Given the description of an element on the screen output the (x, y) to click on. 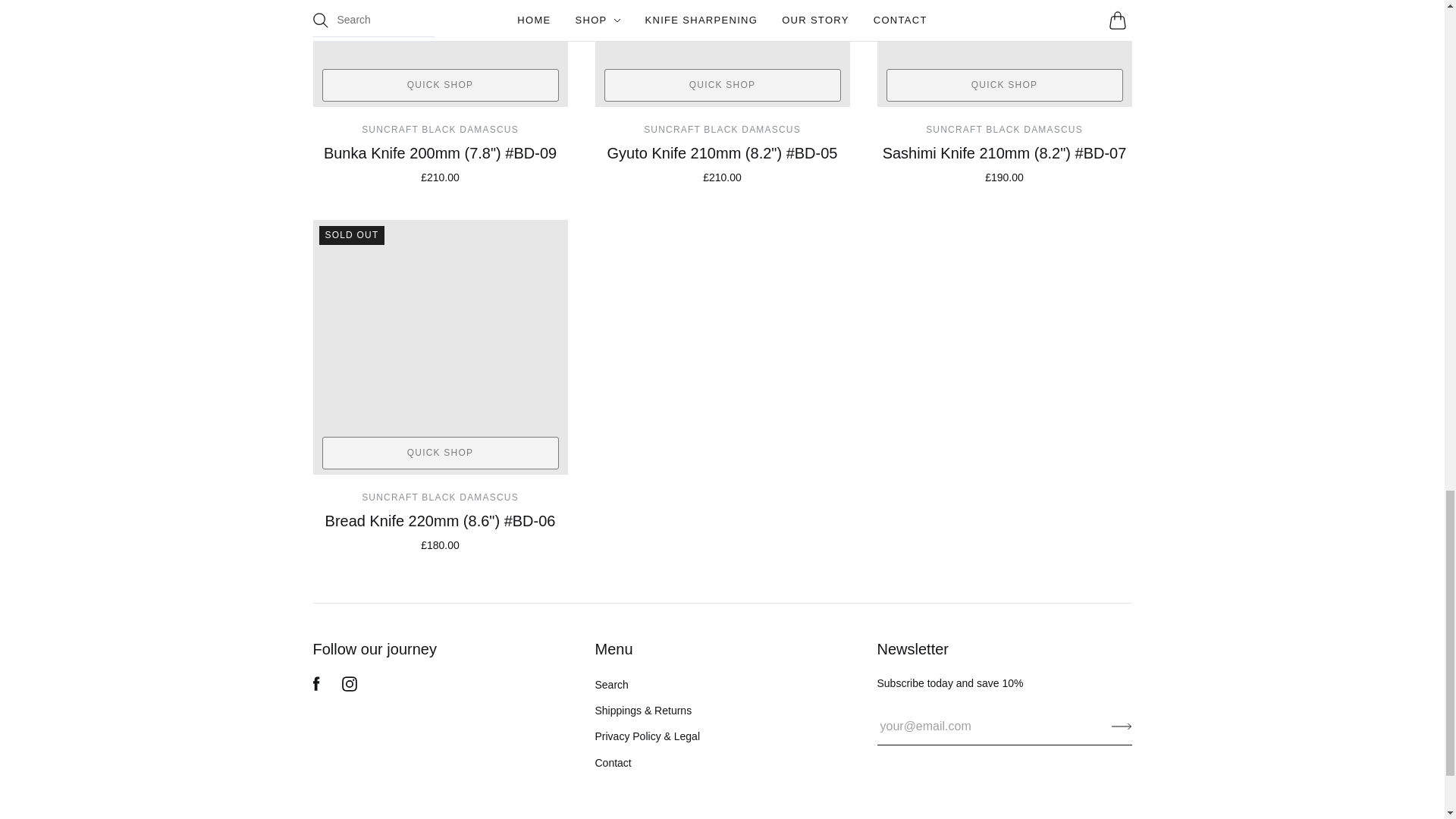
Suncraft Black Damascus (439, 129)
Suncraft Black Damascus (439, 497)
Suncraft Black Damascus (721, 129)
Suncraft Black Damascus (1004, 129)
